Given the description of an element on the screen output the (x, y) to click on. 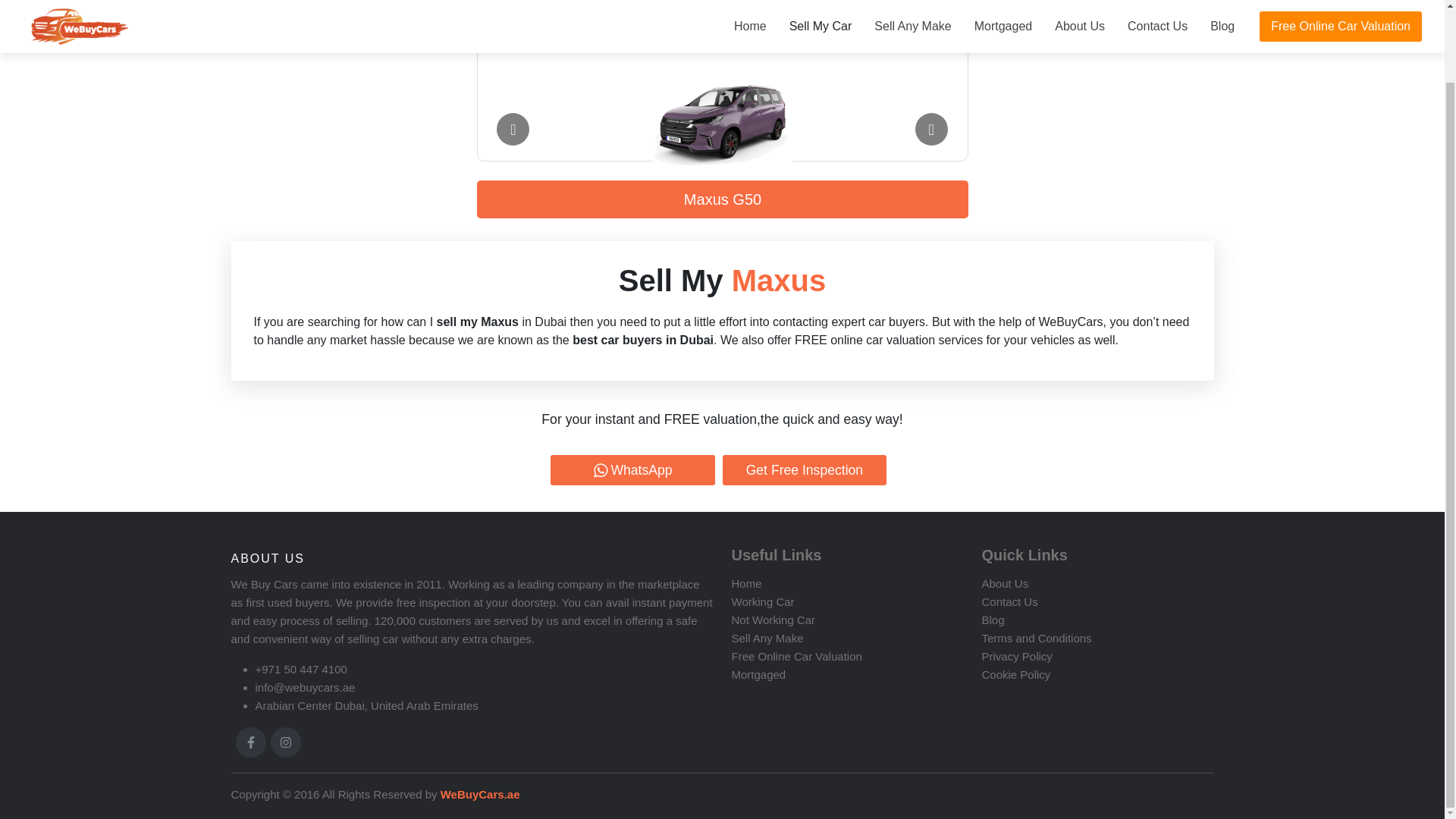
Get Free Inspection (804, 470)
Free Online Car Valuation (795, 656)
Mortgaged (758, 674)
Contact Us (1008, 601)
Sell Any Make (766, 637)
Privacy Policy (1016, 656)
Not Working Car (772, 619)
Blog (992, 619)
WeBuyCars.ae (478, 793)
WhatsApp (632, 470)
